Given the description of an element on the screen output the (x, y) to click on. 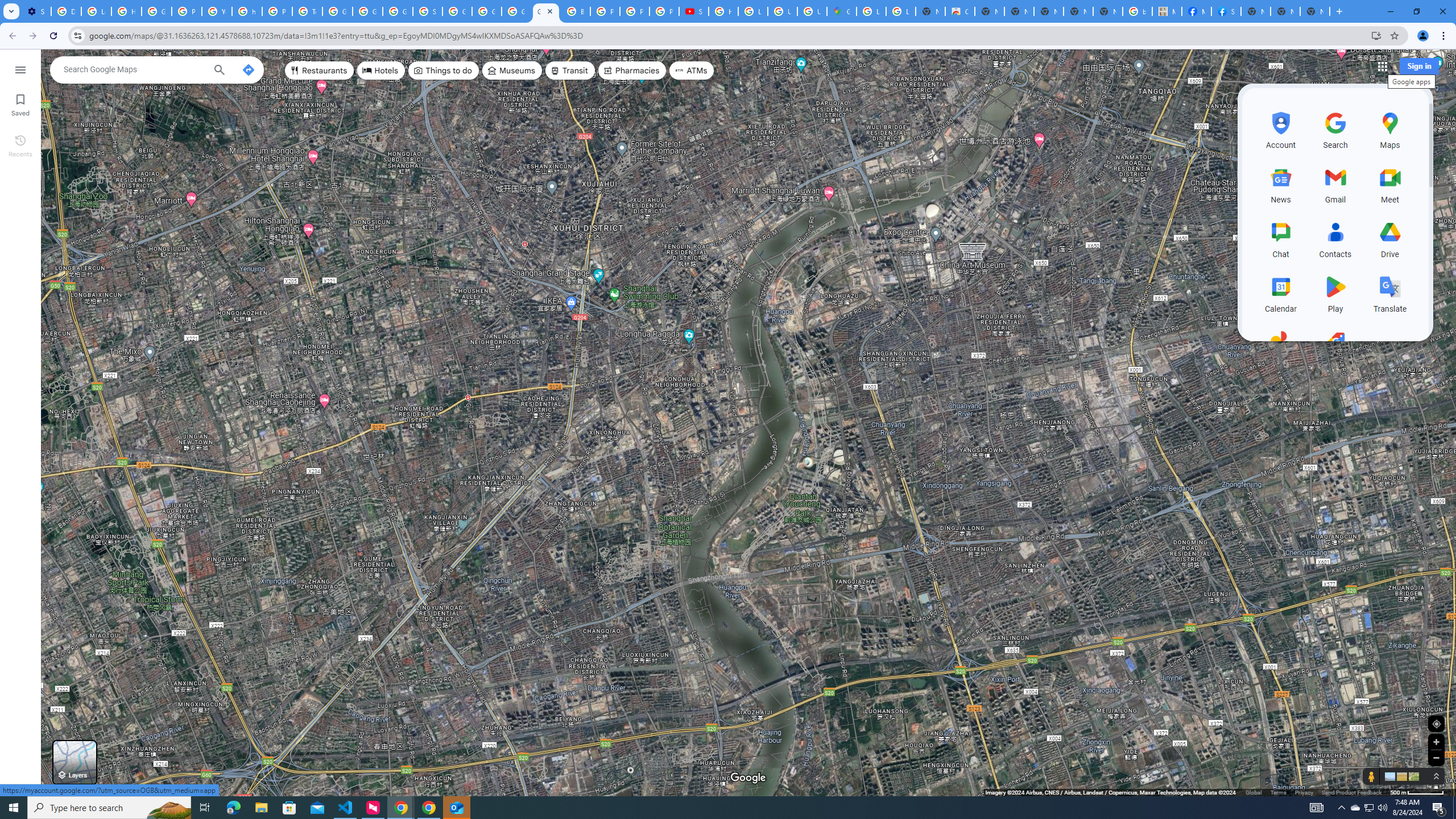
New Tab (1314, 11)
YouTube (216, 11)
Zoom out (1436, 757)
Directions (247, 69)
Send Product Feedback (1351, 792)
Museums (511, 70)
